Given the description of an element on the screen output the (x, y) to click on. 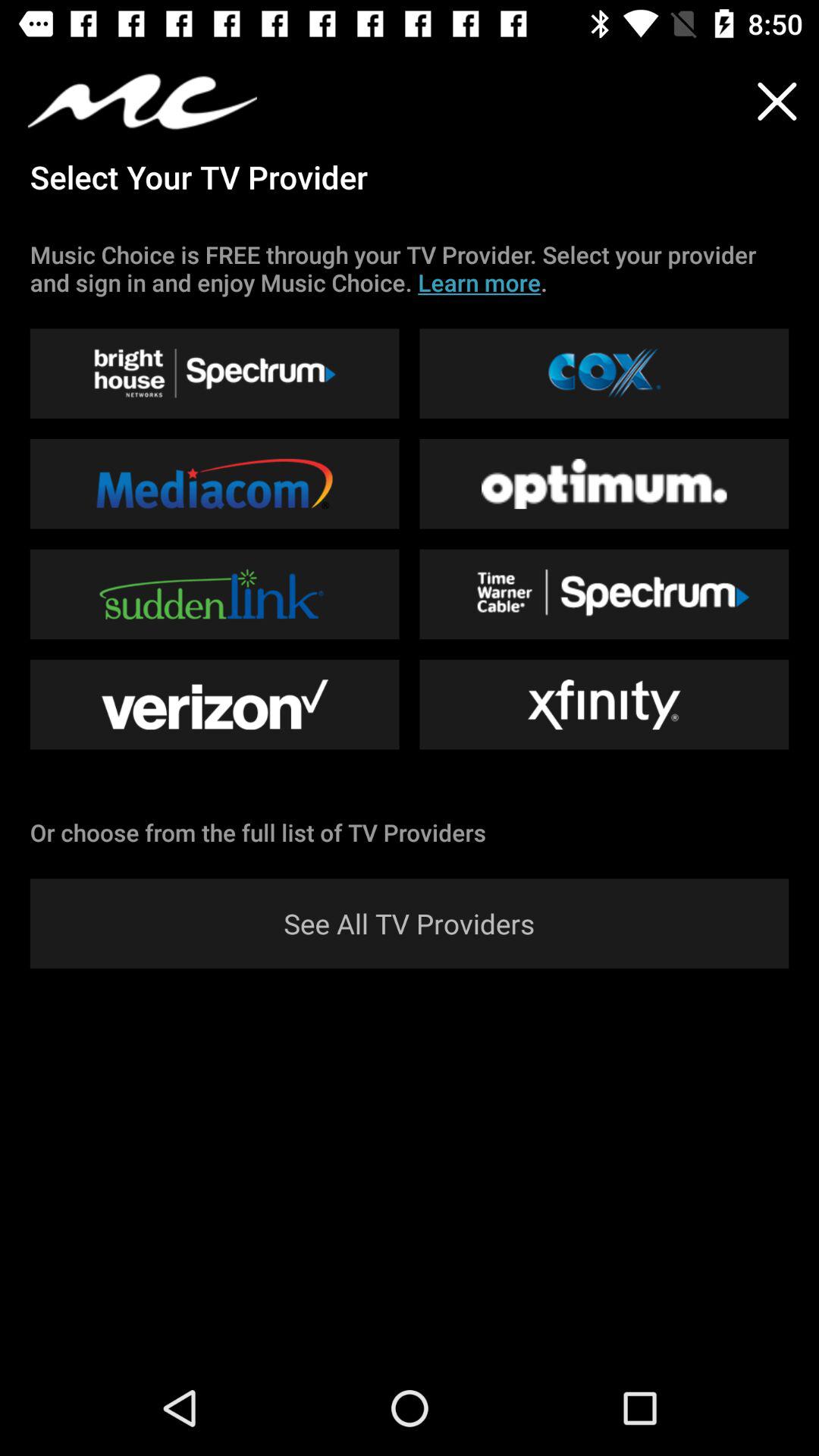
click icon to the right of select your tv (777, 101)
